Given the description of an element on the screen output the (x, y) to click on. 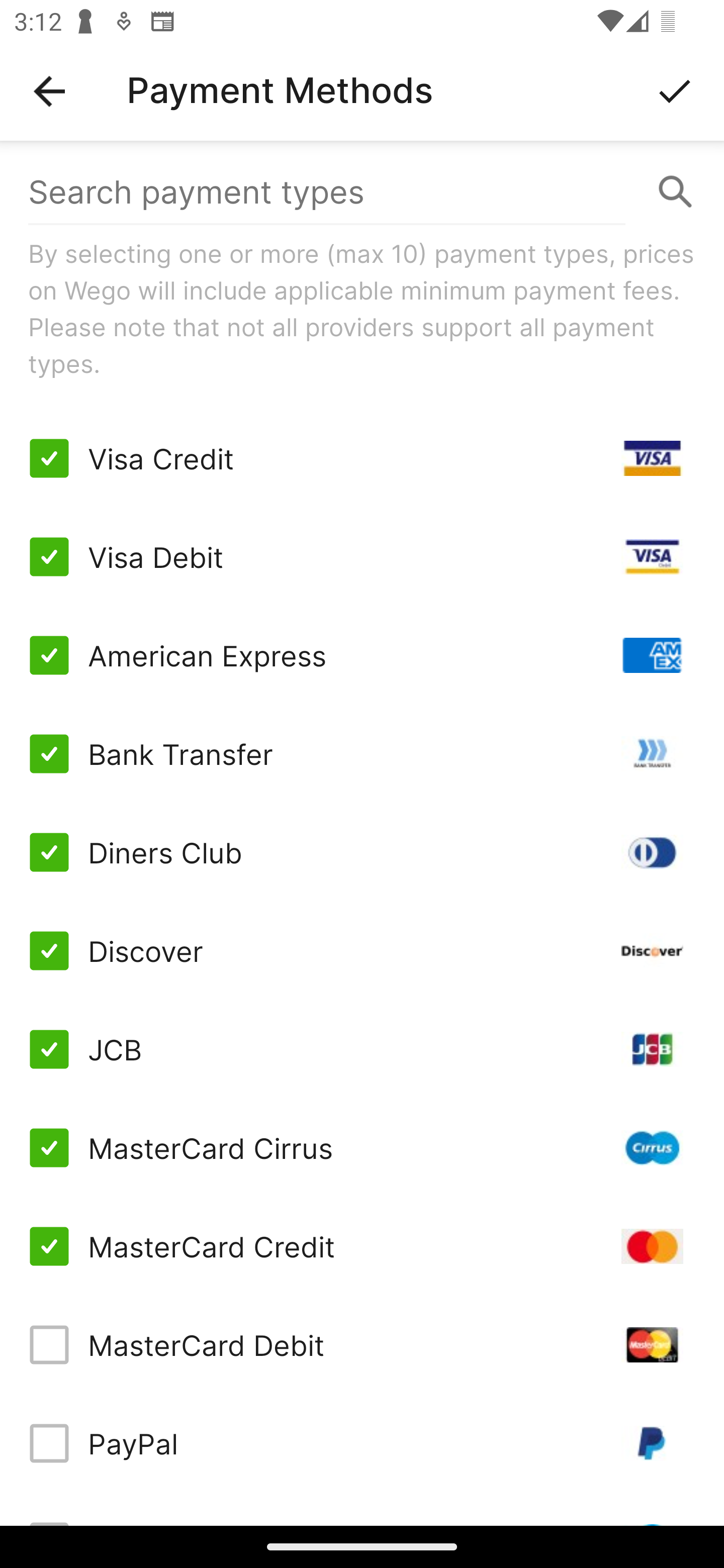
Search payment types  (361, 191)
Visa Credit (362, 458)
Visa Debit (362, 557)
American Express (362, 655)
Bank Transfer (362, 753)
Diners Club (362, 851)
Discover (362, 950)
JCB (362, 1049)
MasterCard Cirrus (362, 1147)
MasterCard Credit (362, 1245)
MasterCard Debit (362, 1344)
PayPal (362, 1442)
